Given the description of an element on the screen output the (x, y) to click on. 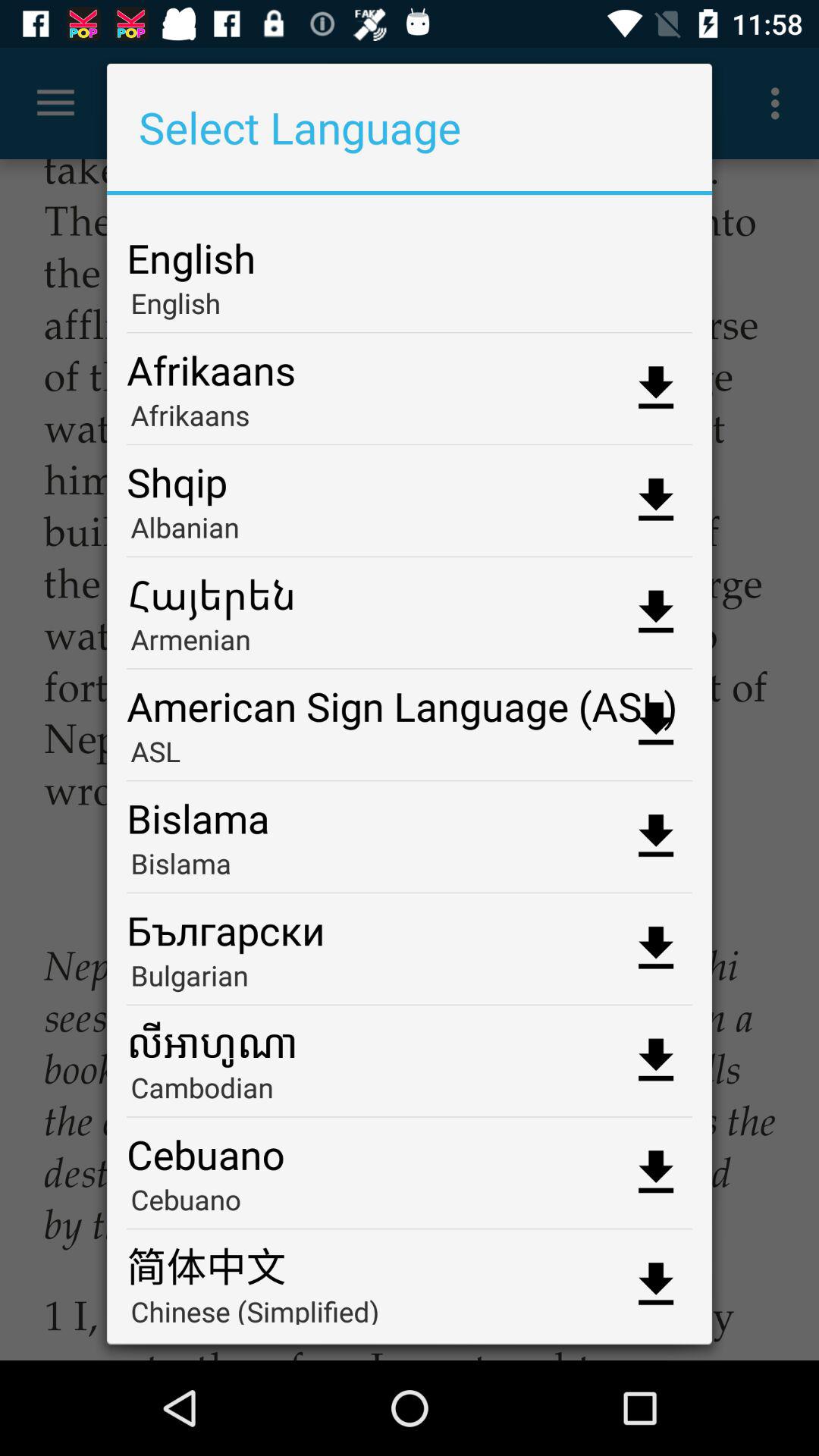
scroll until the armenian icon (409, 644)
